Given the description of an element on the screen output the (x, y) to click on. 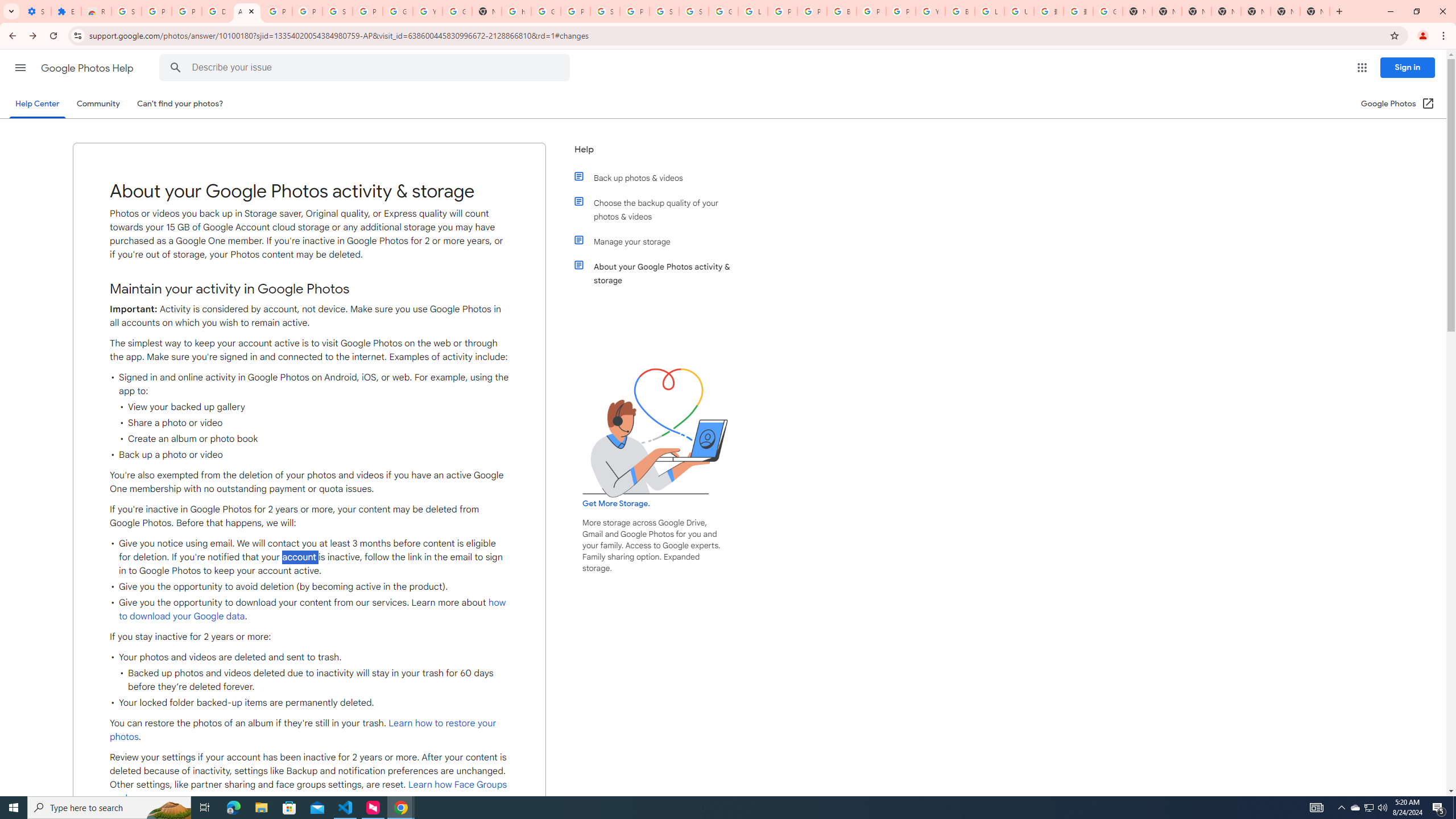
YouTube (930, 11)
Manage your storage (661, 241)
Describe your issue (366, 67)
Delete photos & videos - Computer - Google Photos Help (216, 11)
Learn how to restore your photos (302, 729)
